Given the description of an element on the screen output the (x, y) to click on. 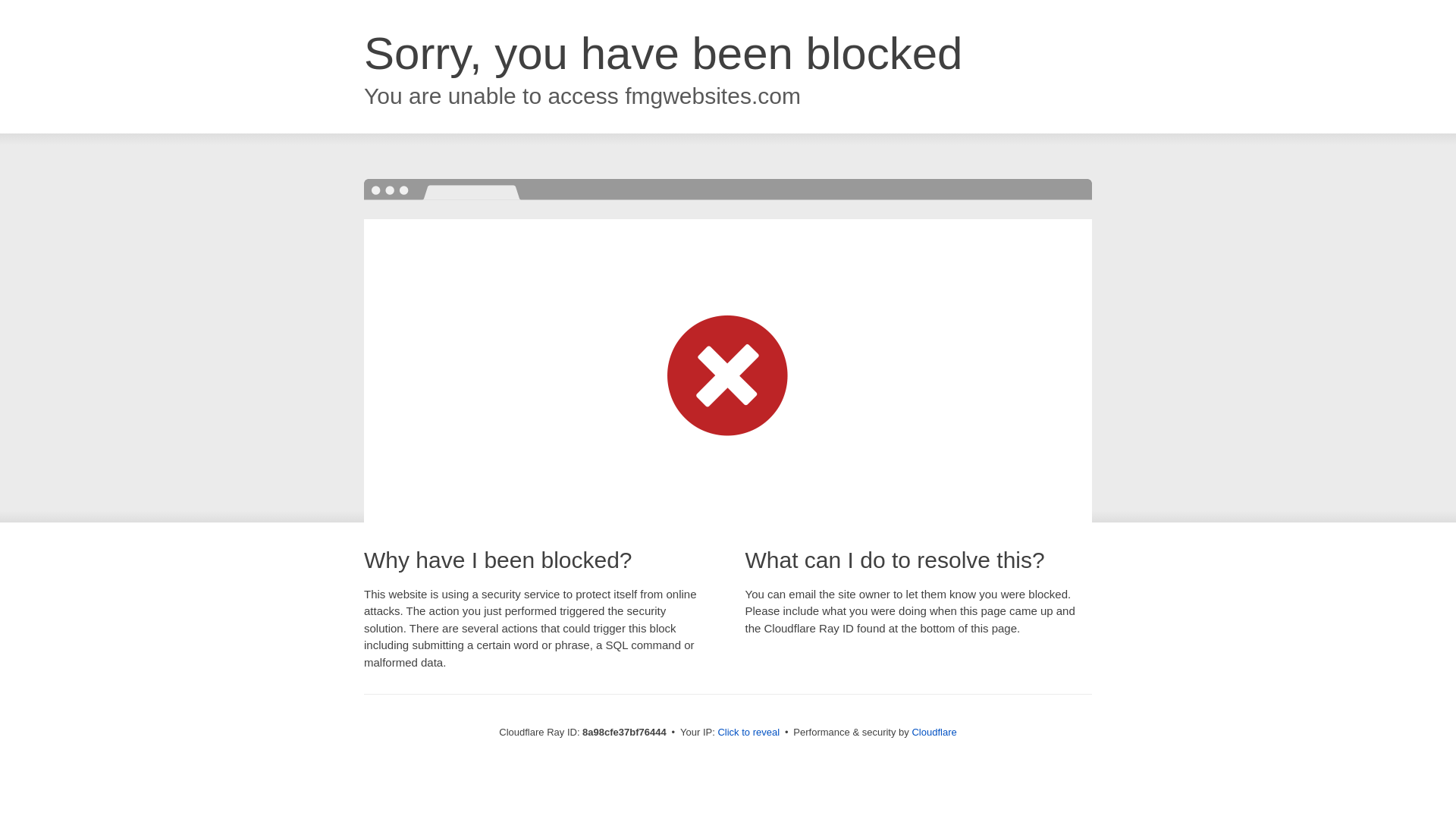
Click to reveal (747, 732)
Cloudflare (933, 731)
